Given the description of an element on the screen output the (x, y) to click on. 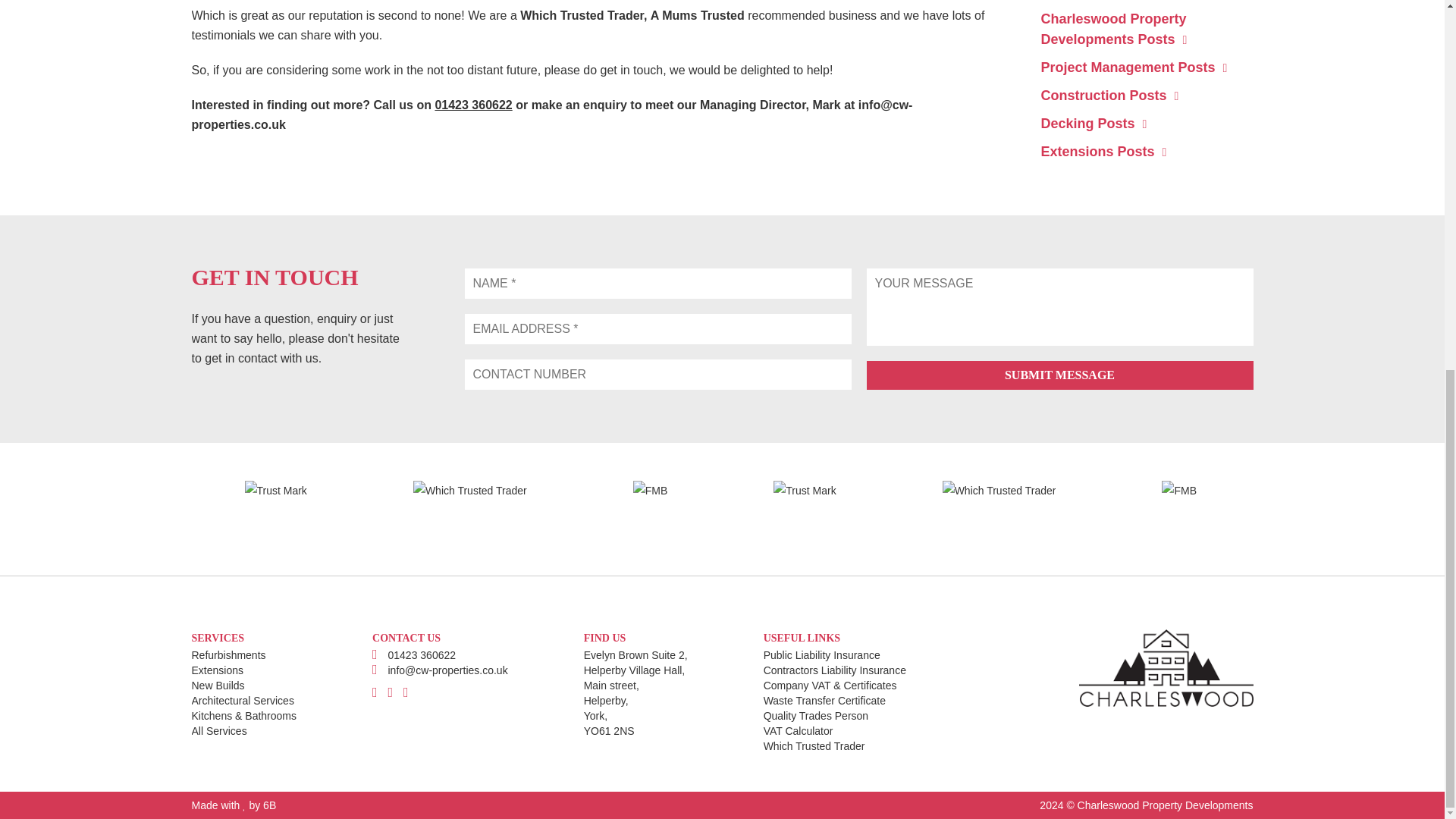
Refurbishments (243, 654)
Charleswood Property Developments Posts (1113, 28)
Project Management Posts (1134, 67)
Submit Message (1059, 375)
Charleswood Property Developments (1165, 805)
Extensions Posts (1103, 151)
New Builds (243, 685)
Extensions (243, 670)
01423 360622 (472, 104)
Decking Posts (1094, 123)
